Given the description of an element on the screen output the (x, y) to click on. 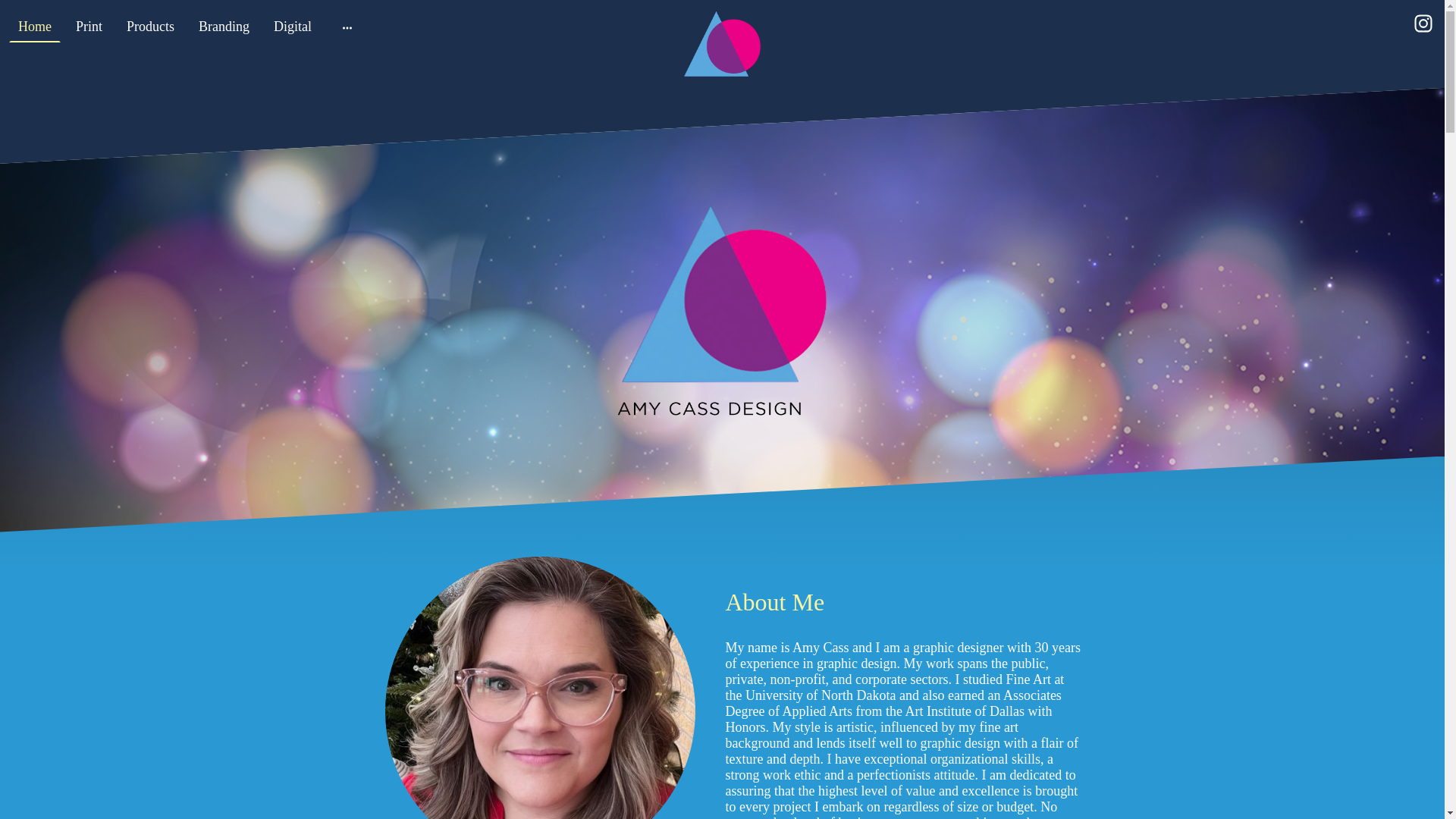
Digital (292, 26)
Products (150, 26)
Home (34, 26)
Print (89, 26)
Branding (223, 26)
